Given the description of an element on the screen output the (x, y) to click on. 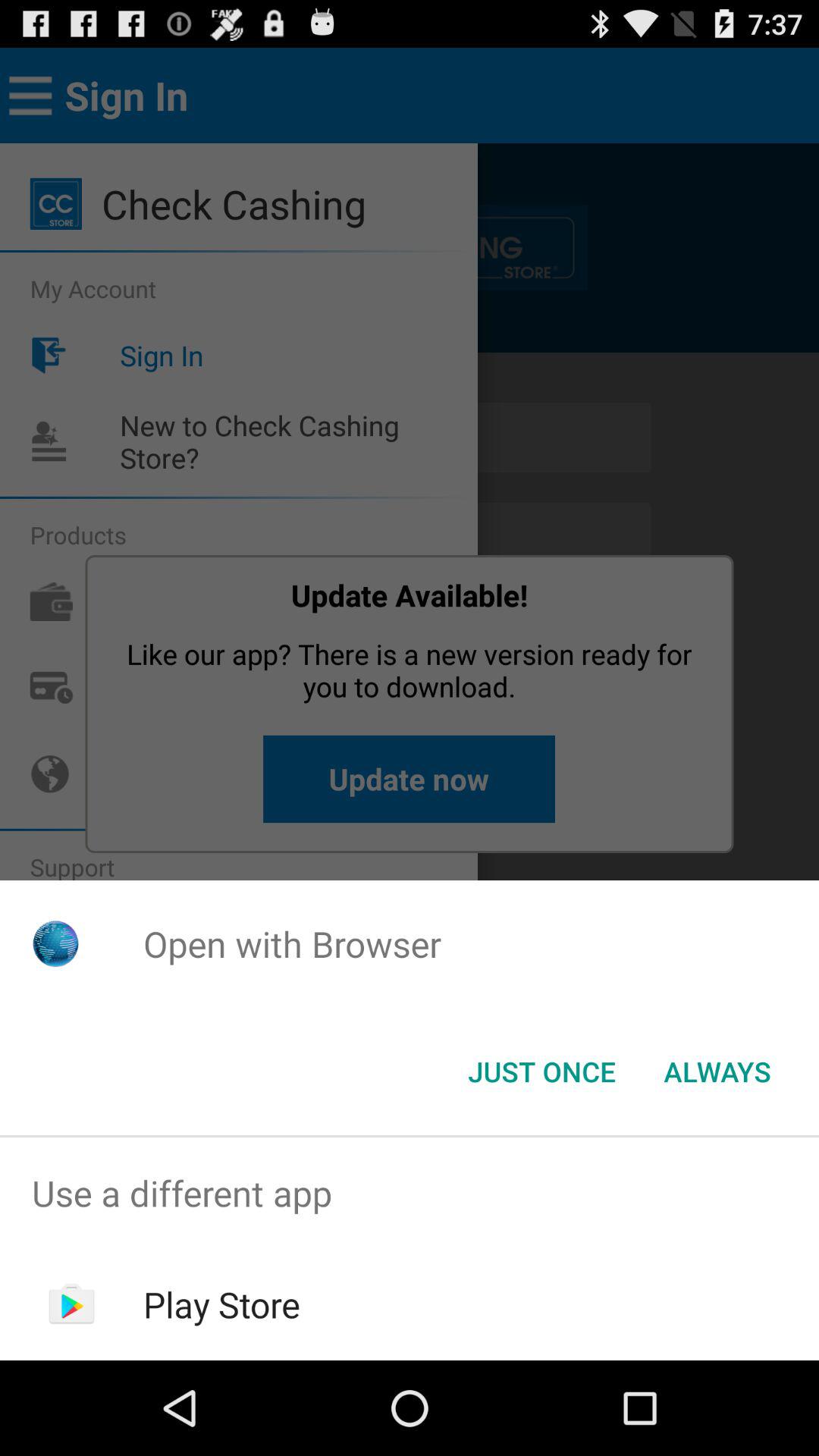
scroll until just once icon (541, 1071)
